Given the description of an element on the screen output the (x, y) to click on. 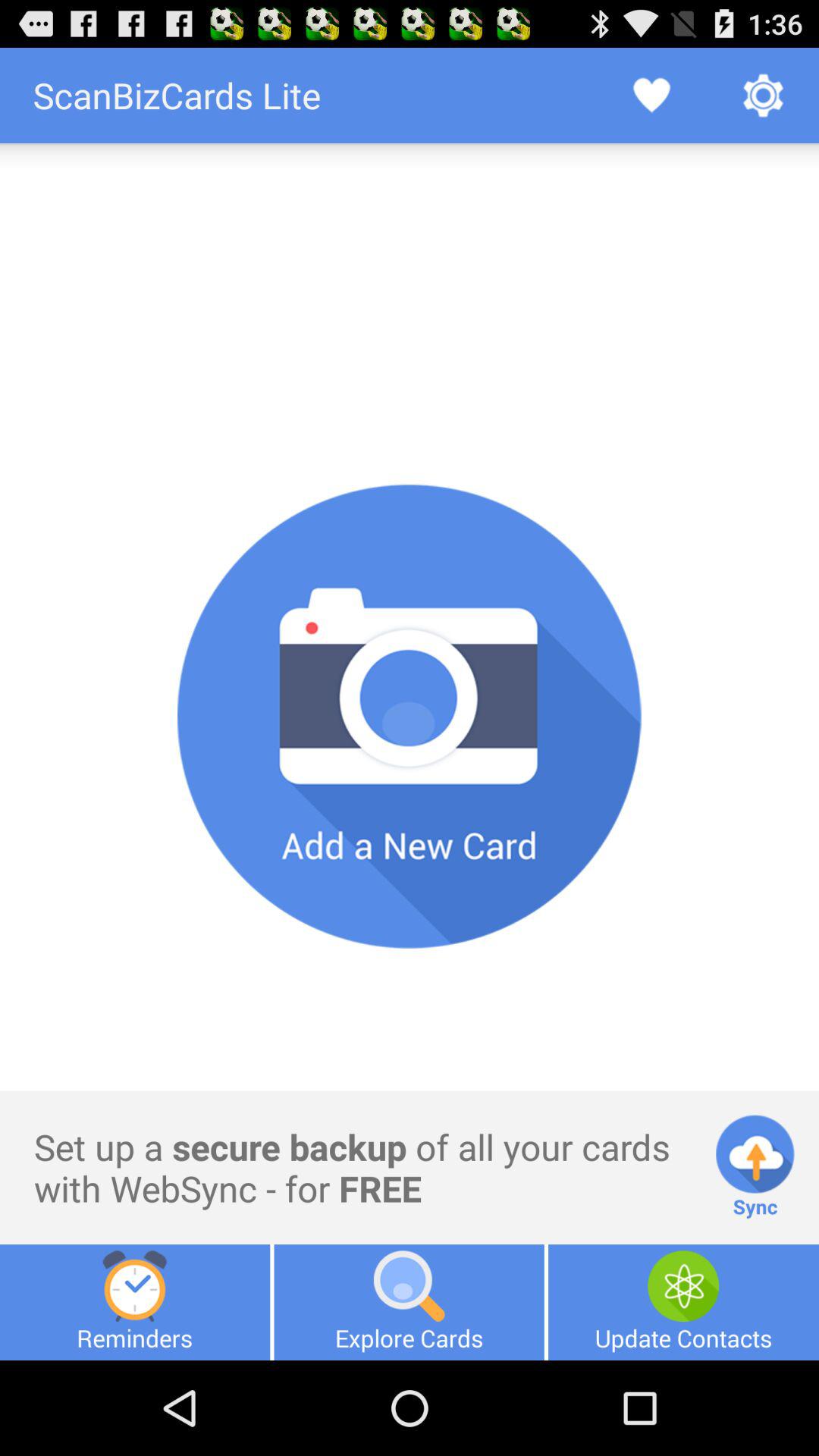
click the icon below set up a item (135, 1302)
